Given the description of an element on the screen output the (x, y) to click on. 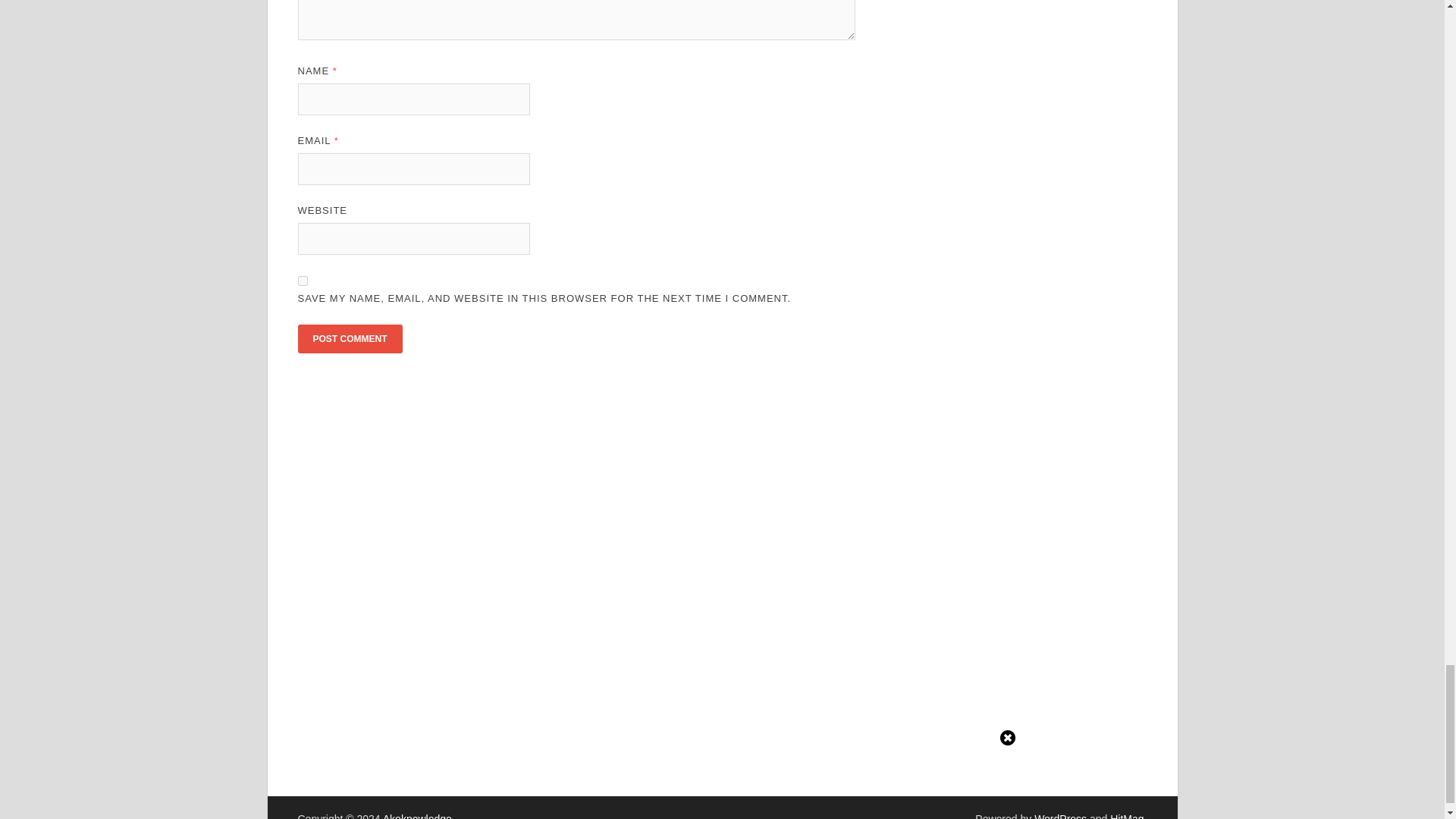
yes (302, 280)
Post Comment (349, 338)
Post Comment (349, 338)
